Given the description of an element on the screen output the (x, y) to click on. 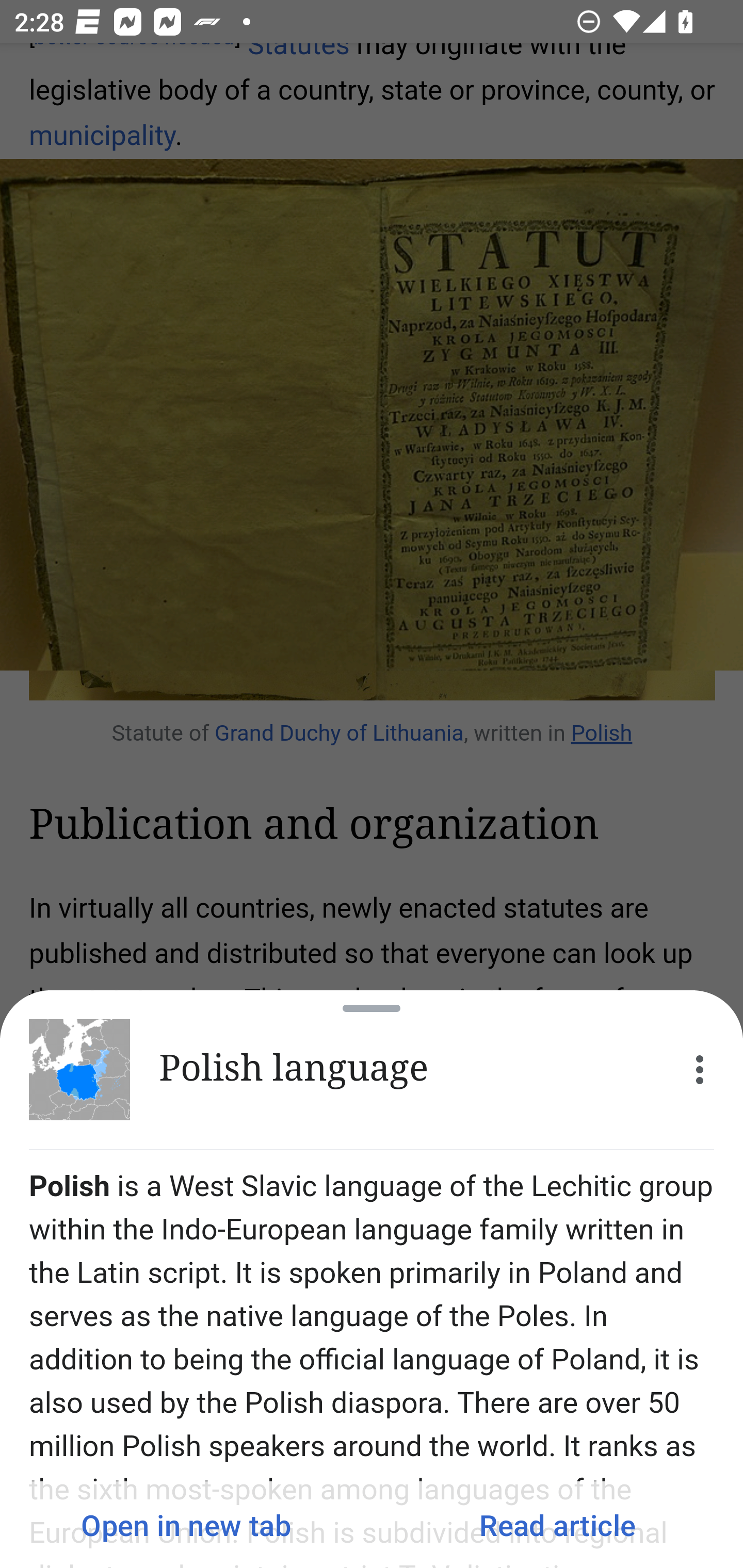
Polish language More options (371, 1069)
More options (699, 1070)
Open in new tab (185, 1524)
Read article (557, 1524)
